Given the description of an element on the screen output the (x, y) to click on. 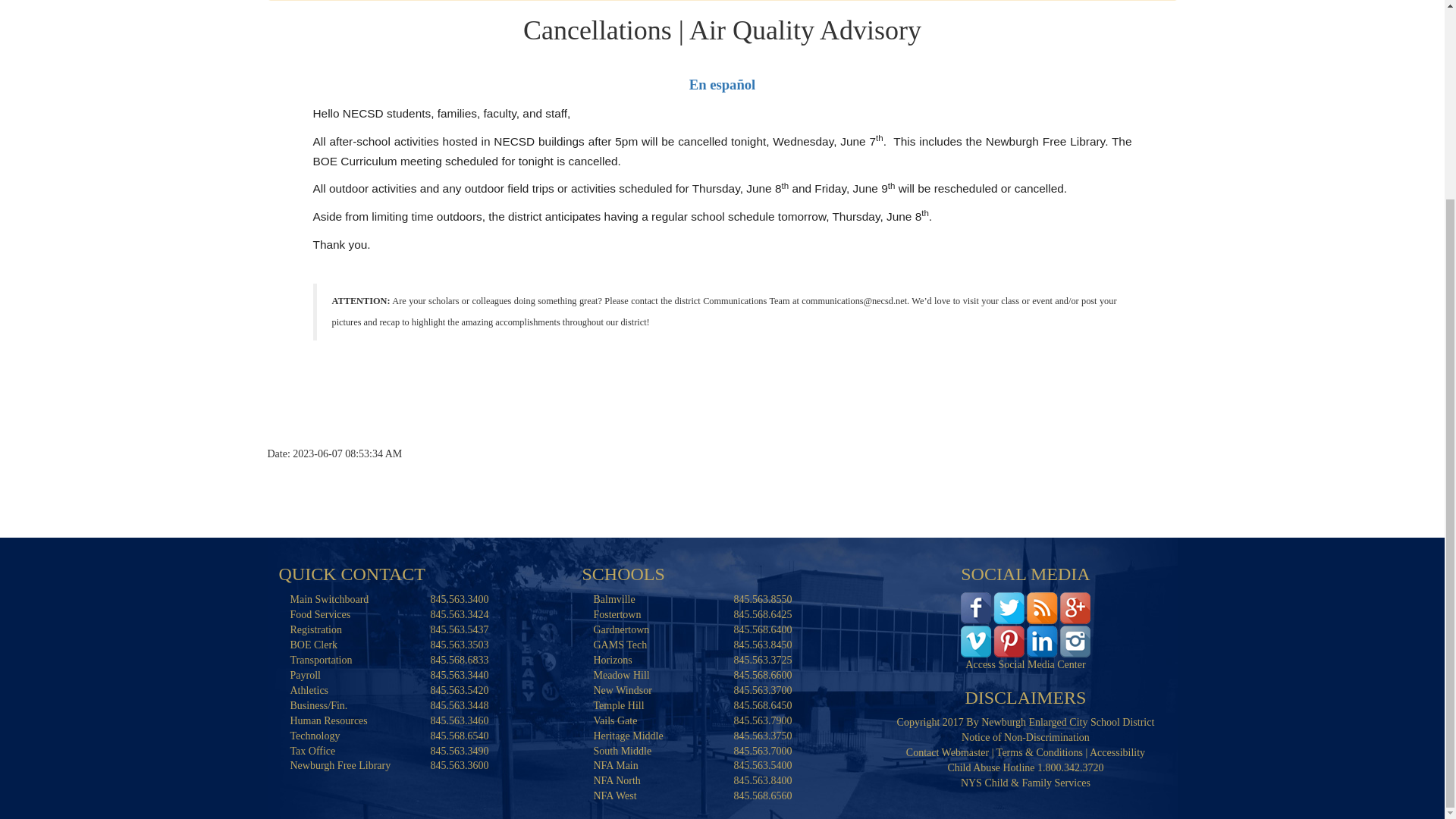
Access Social Media Center (1025, 623)
